Given the description of an element on the screen output the (x, y) to click on. 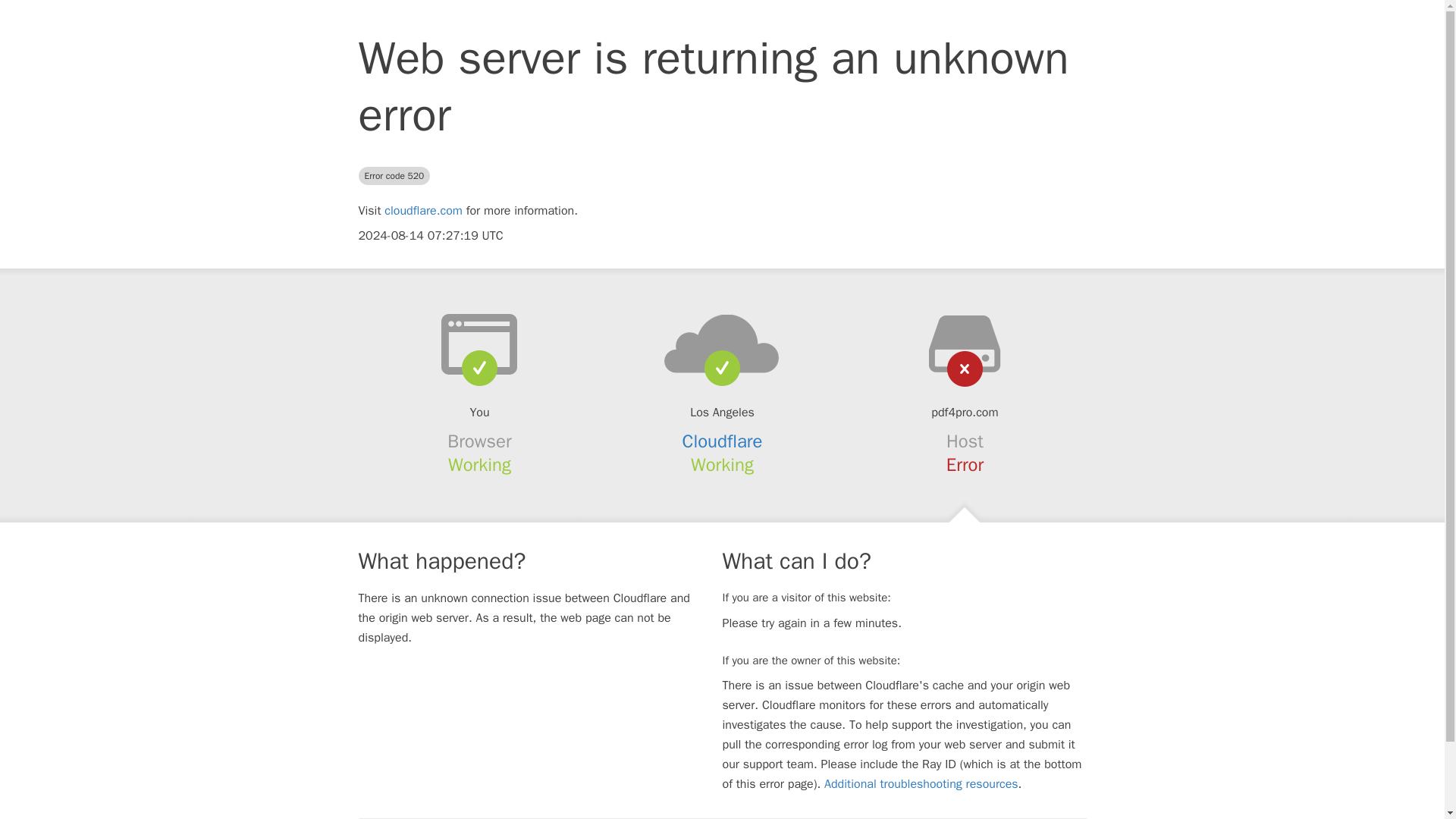
Cloudflare (722, 440)
Additional troubleshooting resources (920, 783)
cloudflare.com (423, 210)
